Given the description of an element on the screen output the (x, y) to click on. 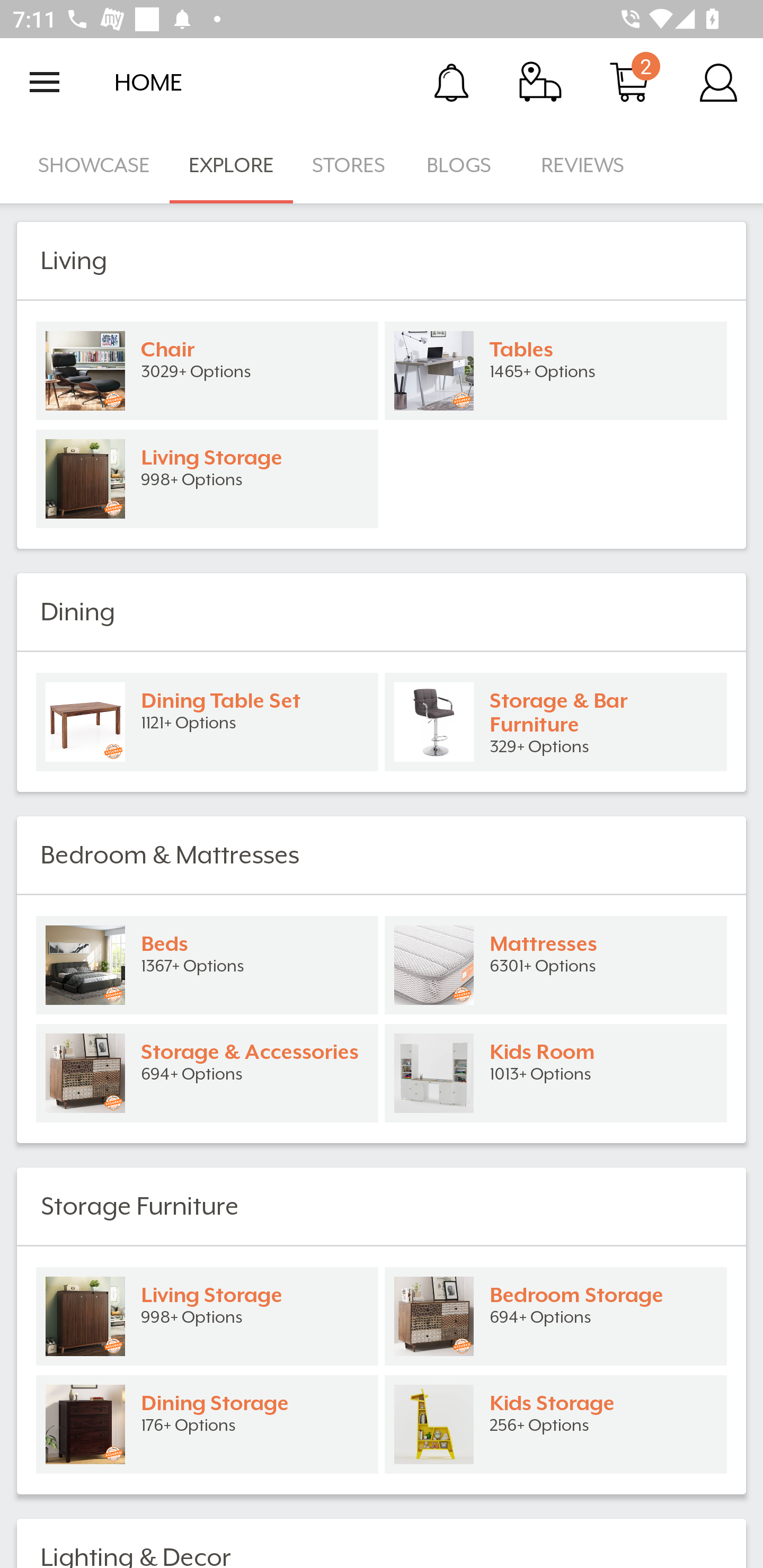
Open navigation drawer (44, 82)
Notification (450, 81)
Track Order (540, 81)
Cart (629, 81)
Account Details (718, 81)
SHOWCASE (94, 165)
EXPLORE (230, 165)
STORES (349, 165)
BLOGS (464, 165)
REVIEWS (582, 165)
Chair 3029+ Options (206, 370)
Tables 1465+ Options (555, 370)
Living Storage 998+ Options (206, 478)
Dining Table Set 1121+ Options (206, 721)
Storage & Bar Furniture 329+ Options (555, 721)
Beds 1367+ Options (206, 965)
Mattresses 6301+ Options (555, 965)
Storage & Accessories 694+ Options (206, 1073)
Kids Room 1013+ Options (555, 1073)
Living Storage 998+ Options (206, 1316)
Bedroom Storage 694+ Options (555, 1316)
Dining Storage 176+ Options (206, 1424)
Kids Storage 256+ Options (555, 1424)
